Given the description of an element on the screen output the (x, y) to click on. 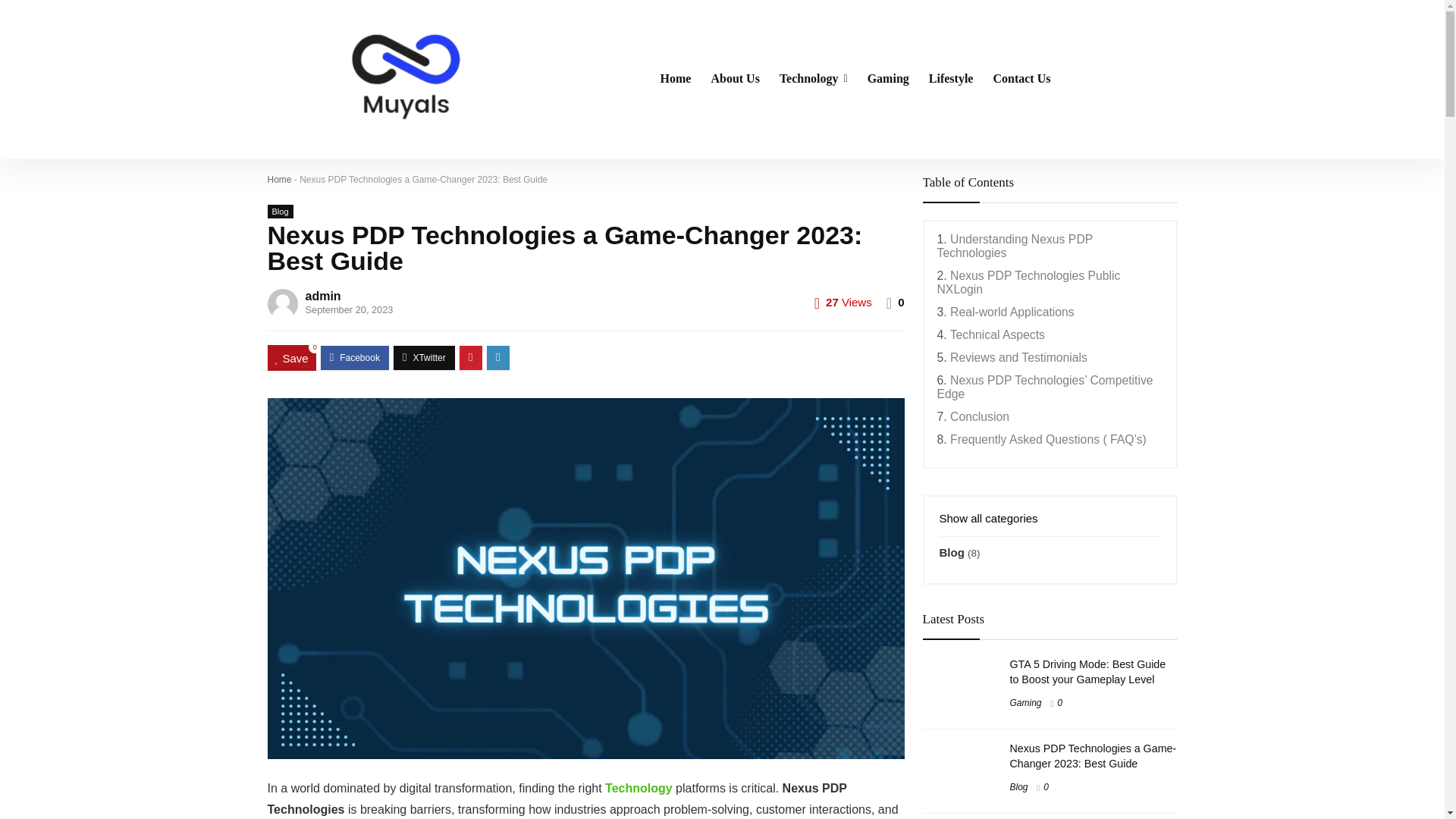
Understanding Nexus PDP Technologies (1015, 245)
Blog (279, 211)
Real-world Applications (1012, 311)
Contact Us (1020, 79)
About Us (734, 79)
Lifestyle (951, 79)
Gaming (887, 79)
Home (675, 79)
Technology (638, 788)
